Given the description of an element on the screen output the (x, y) to click on. 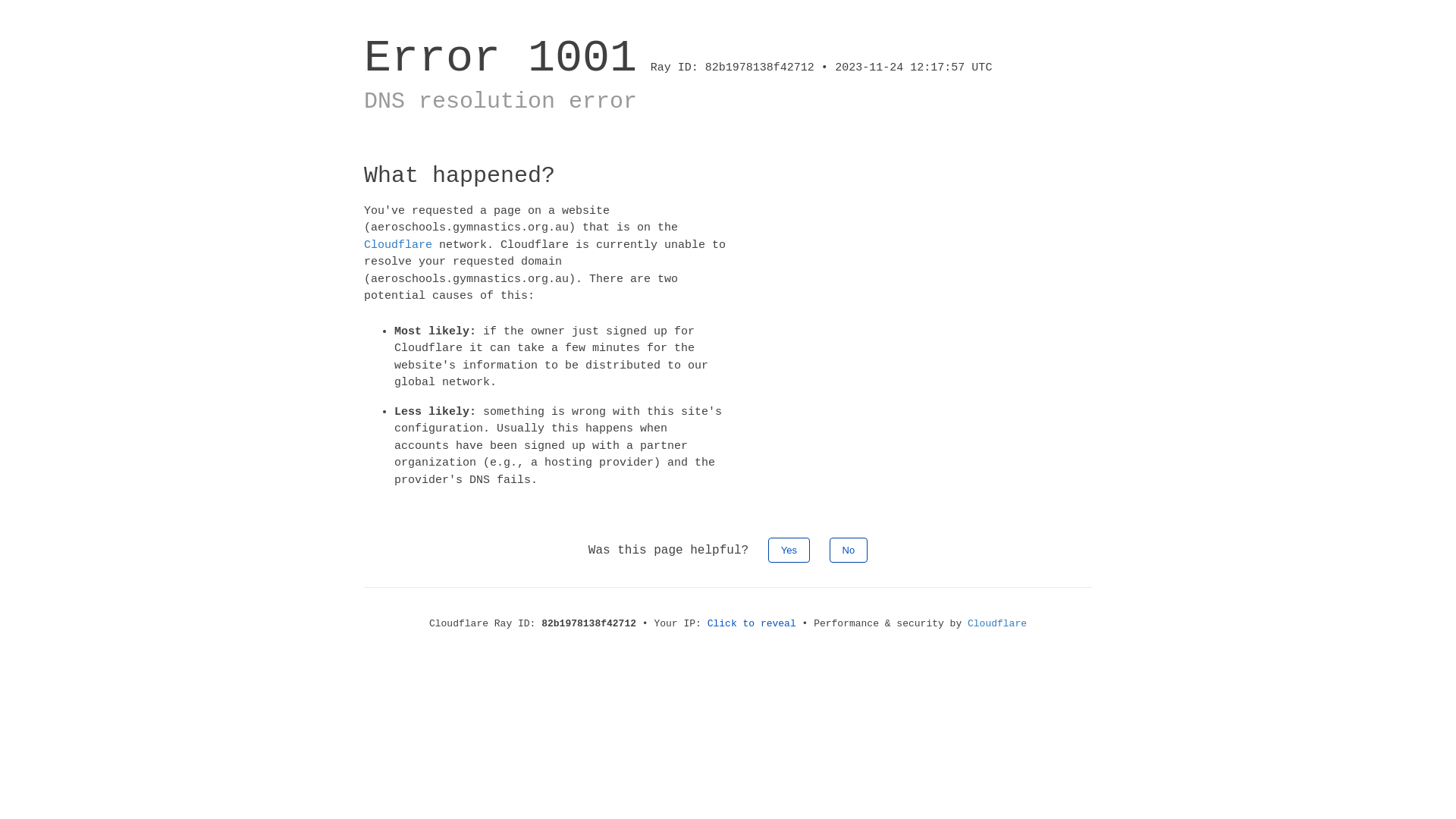
Cloudflare Element type: text (398, 244)
Cloudflare Element type: text (996, 623)
No Element type: text (848, 549)
Yes Element type: text (788, 549)
Click to reveal Element type: text (751, 623)
